Given the description of an element on the screen output the (x, y) to click on. 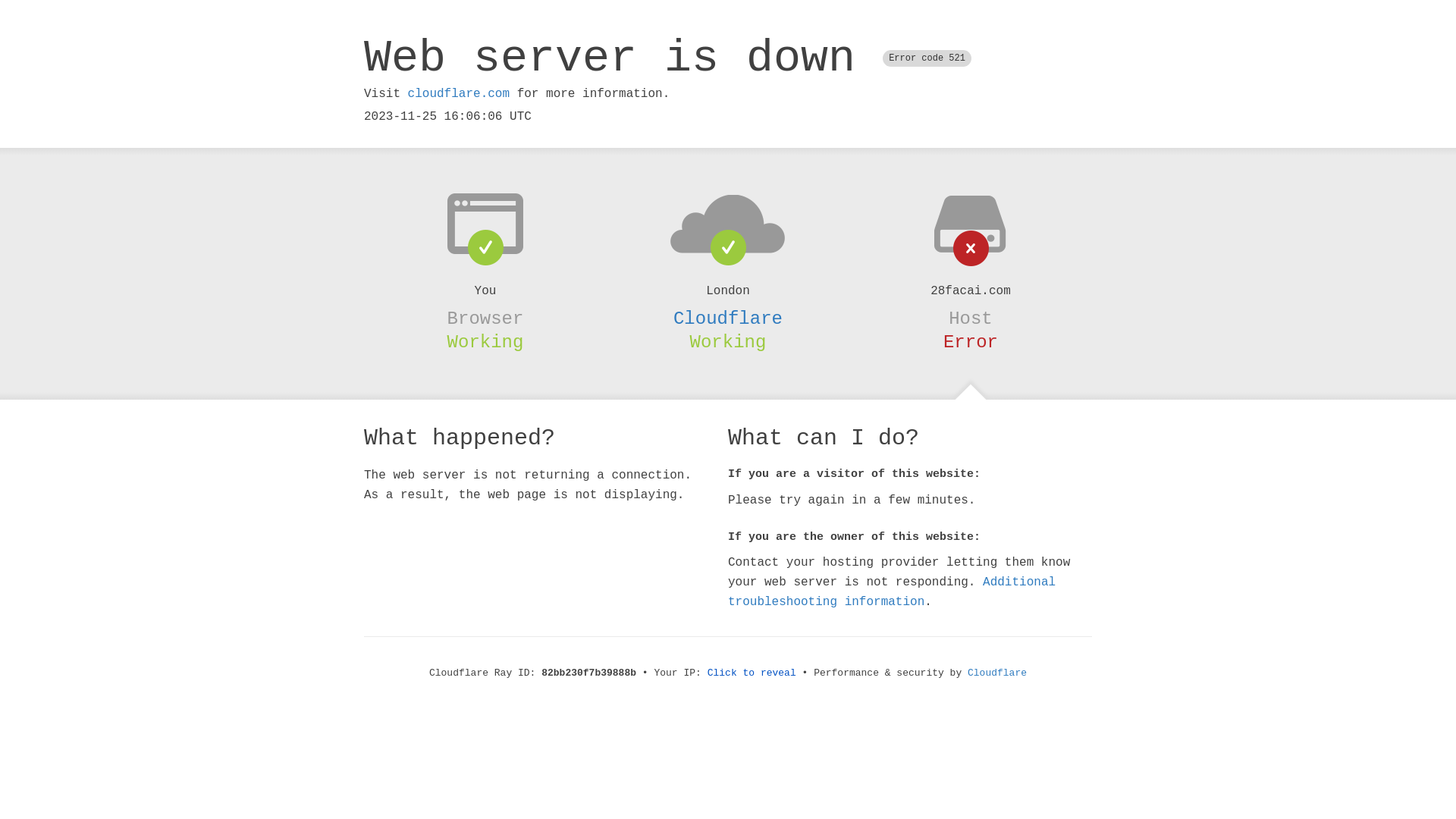
Cloudflare Element type: text (727, 318)
Click to reveal Element type: text (751, 672)
cloudflare.com Element type: text (458, 93)
Cloudflare Element type: text (996, 672)
Additional troubleshooting information Element type: text (891, 591)
